Given the description of an element on the screen output the (x, y) to click on. 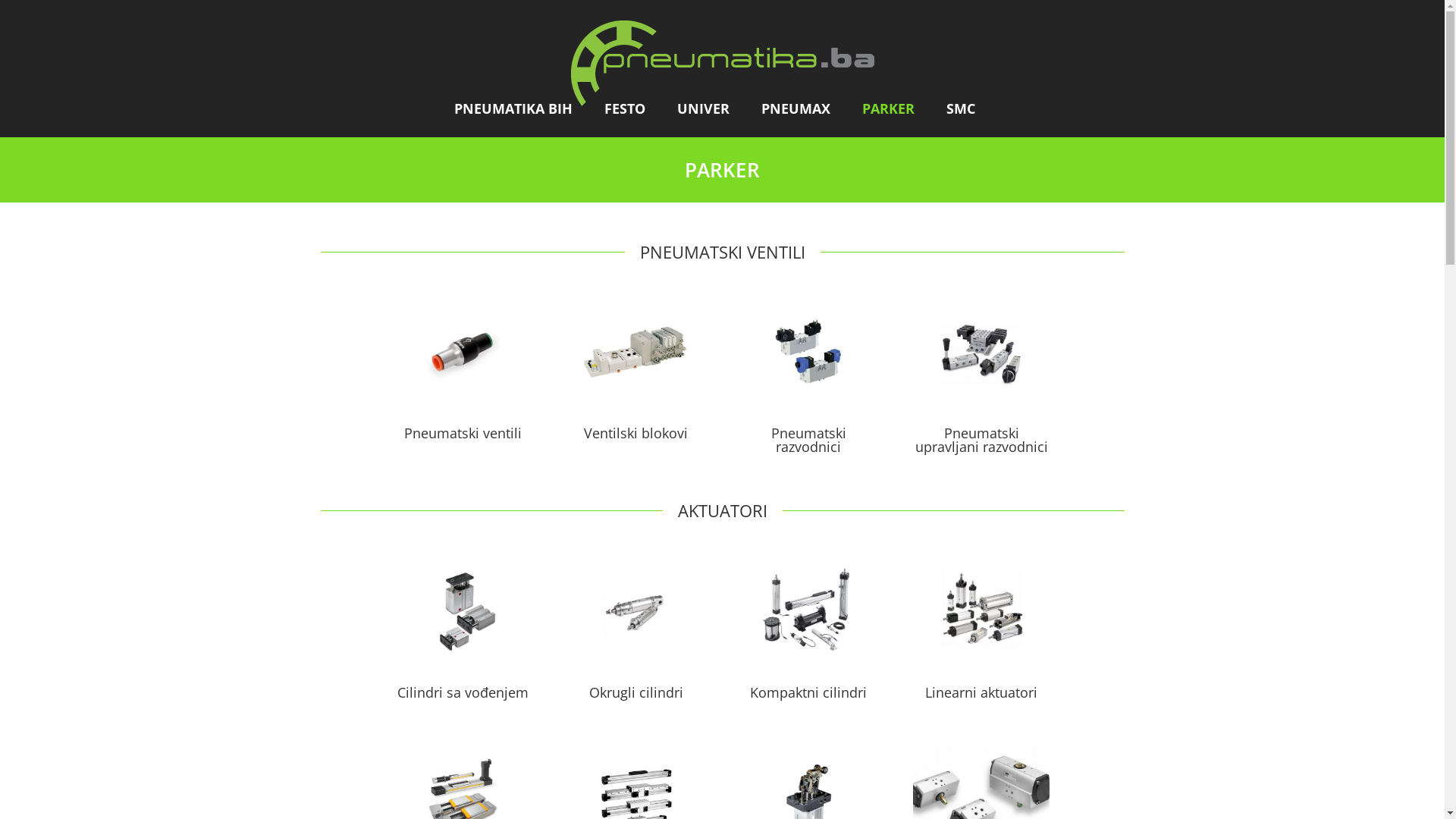
PNEUMAX Element type: text (803, 108)
UNIVER Element type: text (710, 108)
FESTO Element type: text (632, 108)
PNEUMATIKA BIH Element type: text (520, 108)
SMC Element type: text (968, 108)
PARKER Element type: text (895, 108)
